Given the description of an element on the screen output the (x, y) to click on. 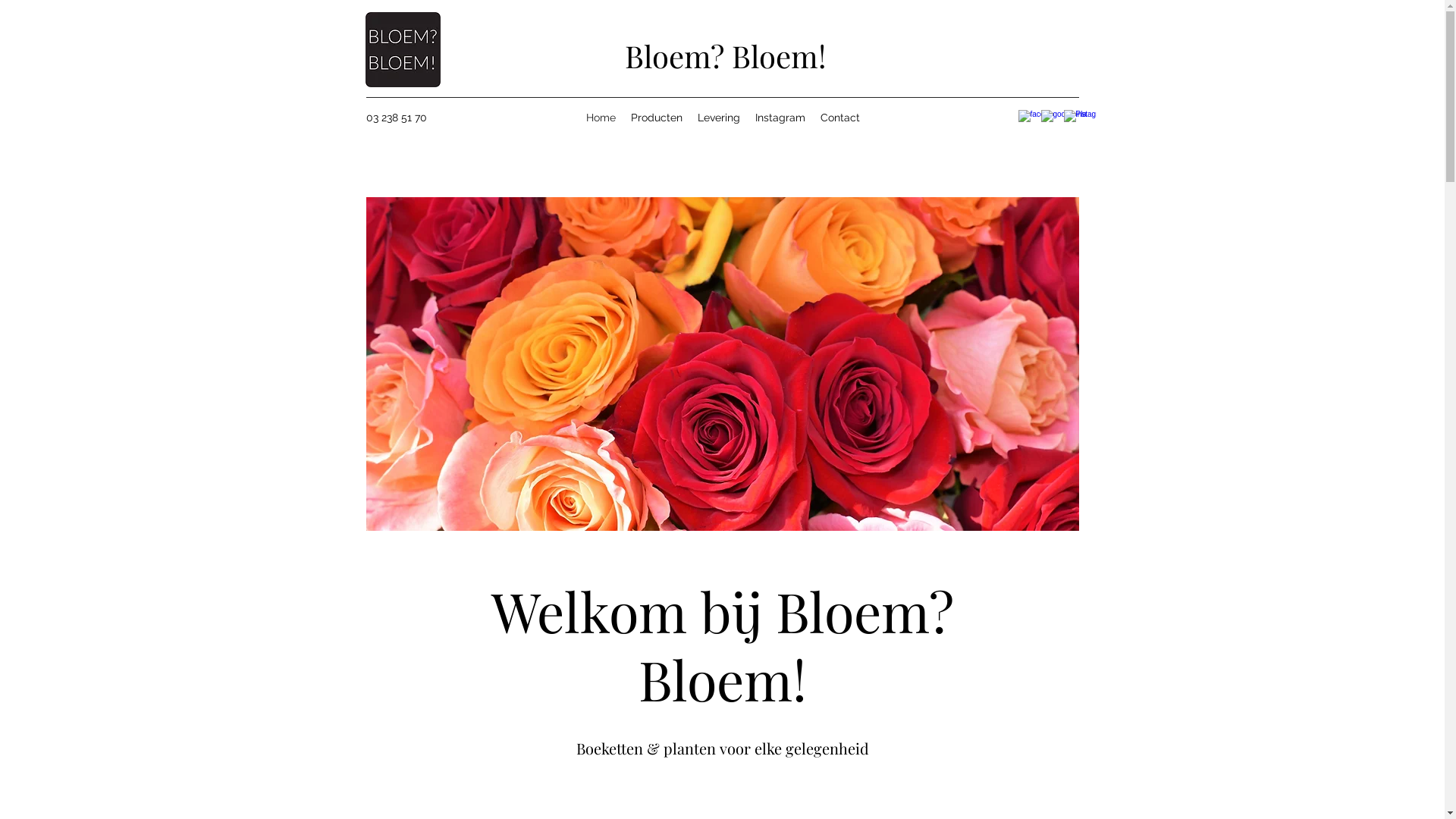
Contact Element type: text (839, 117)
Bloem? Bloem! Element type: text (724, 55)
Instagram Element type: text (779, 117)
Producten Element type: text (656, 117)
Levering Element type: text (718, 117)
Home Element type: text (599, 117)
